Given the description of an element on the screen output the (x, y) to click on. 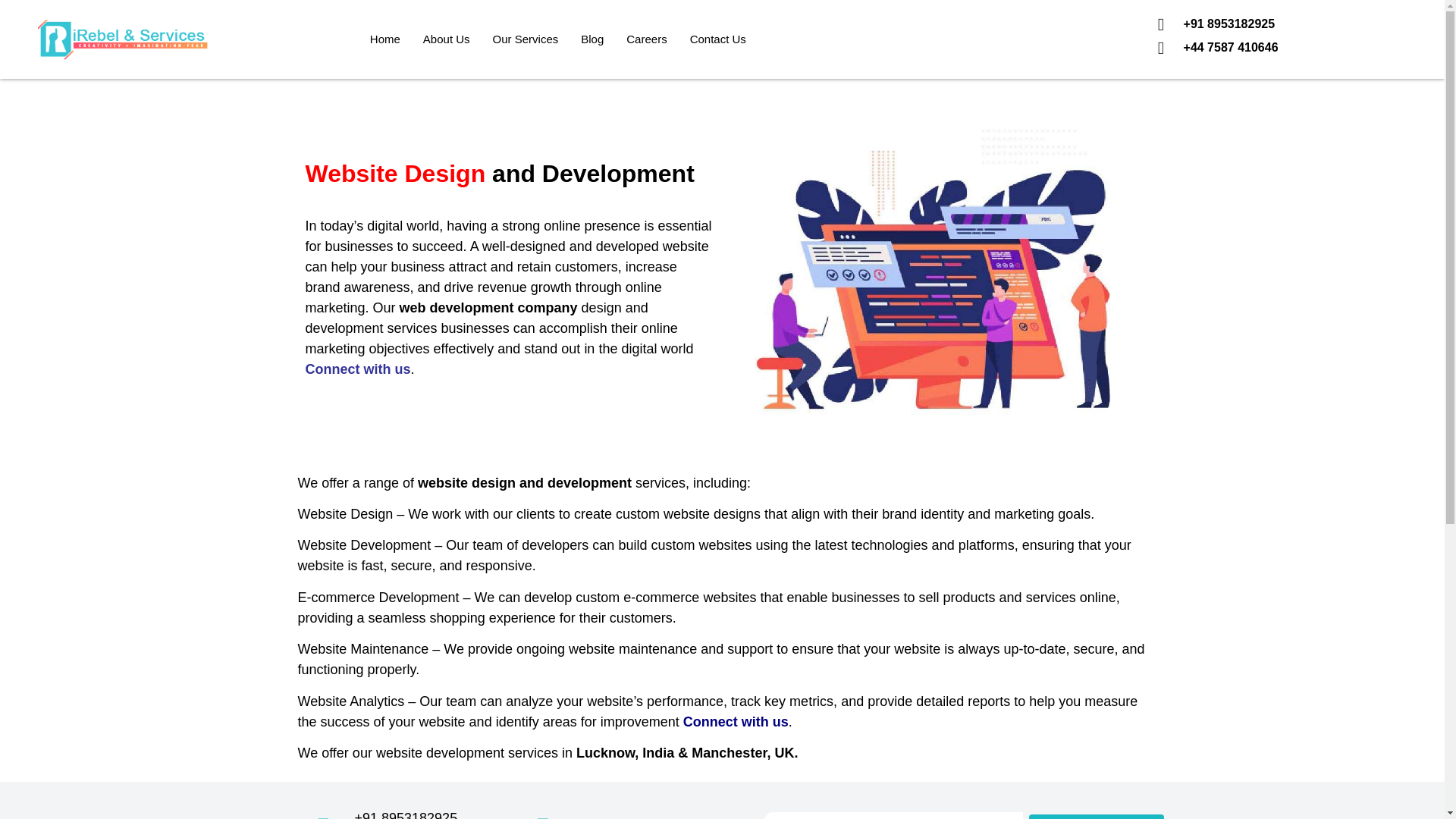
Home (385, 38)
Connect with us (735, 721)
Connect with us (357, 368)
Our Services (525, 38)
Contact Us (717, 38)
SUBSCRIBE (1096, 816)
About Us (446, 38)
Blog (591, 38)
Careers (646, 38)
